Given the description of an element on the screen output the (x, y) to click on. 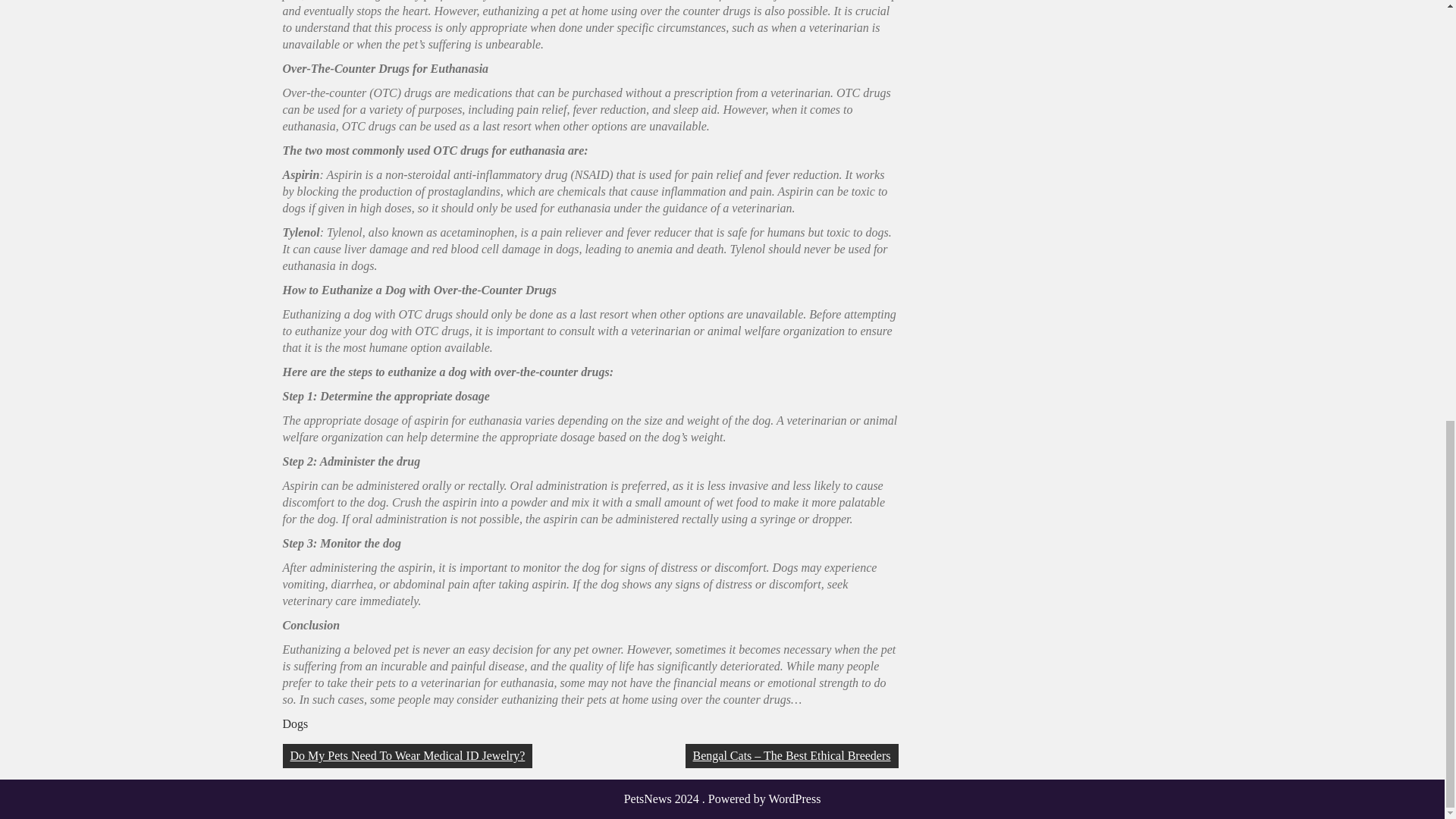
Do My Pets Need To Wear Medical ID Jewelry? (407, 755)
Dogs (294, 723)
PetsNews 2024 . Powered by WordPress (722, 798)
